Given the description of an element on the screen output the (x, y) to click on. 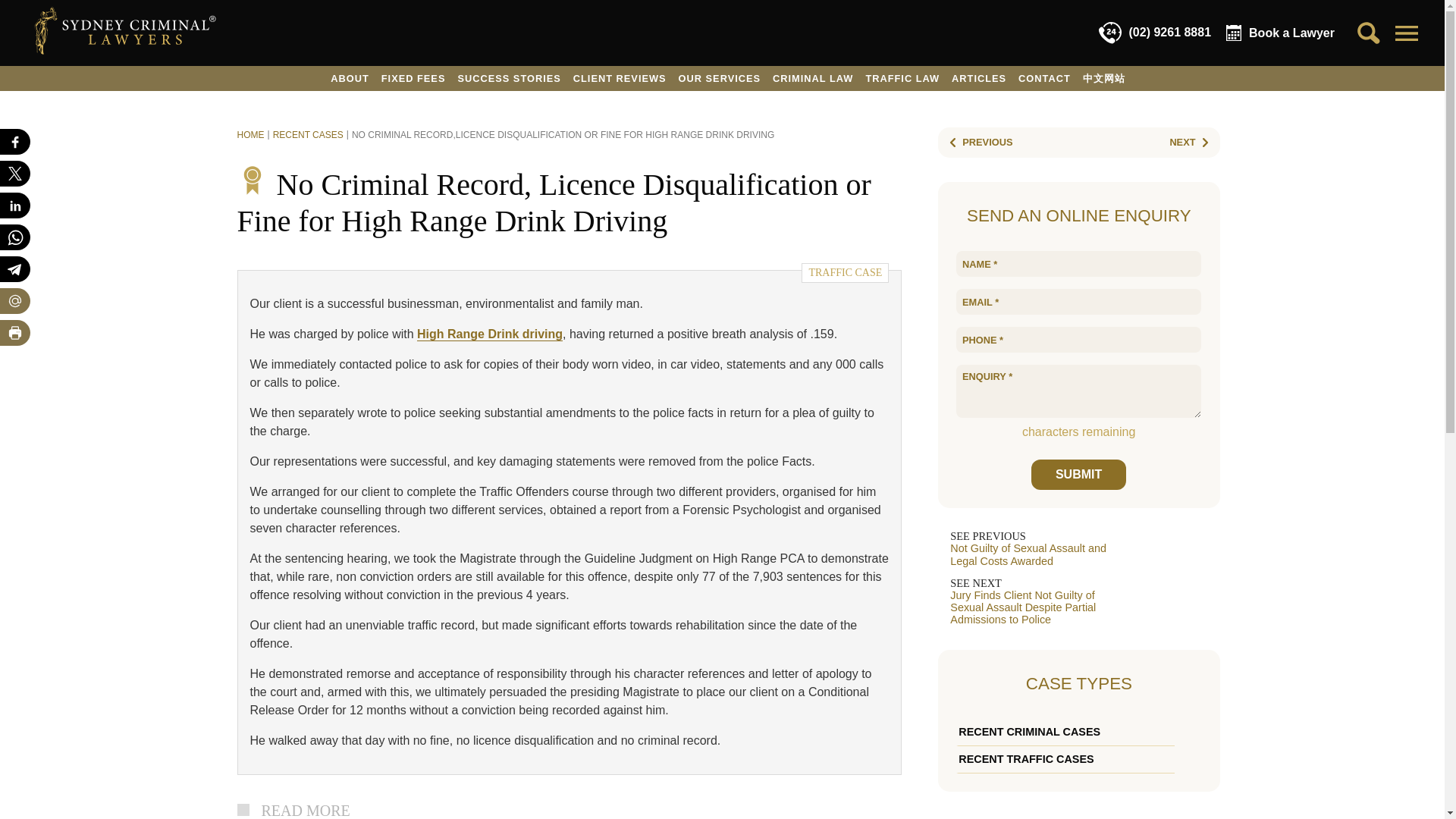
Share on Facebook (15, 141)
Not Guilty of Sexual Assault and Legal Costs Awarded (977, 142)
Share on LinkedIn (15, 205)
Not Guilty of Sexual Assault and Legal Costs Awarded (1078, 549)
Share on Telegram (15, 268)
Book a Lawyer (1280, 33)
Share on WhatsApp (15, 237)
Home (249, 134)
